Given the description of an element on the screen output the (x, y) to click on. 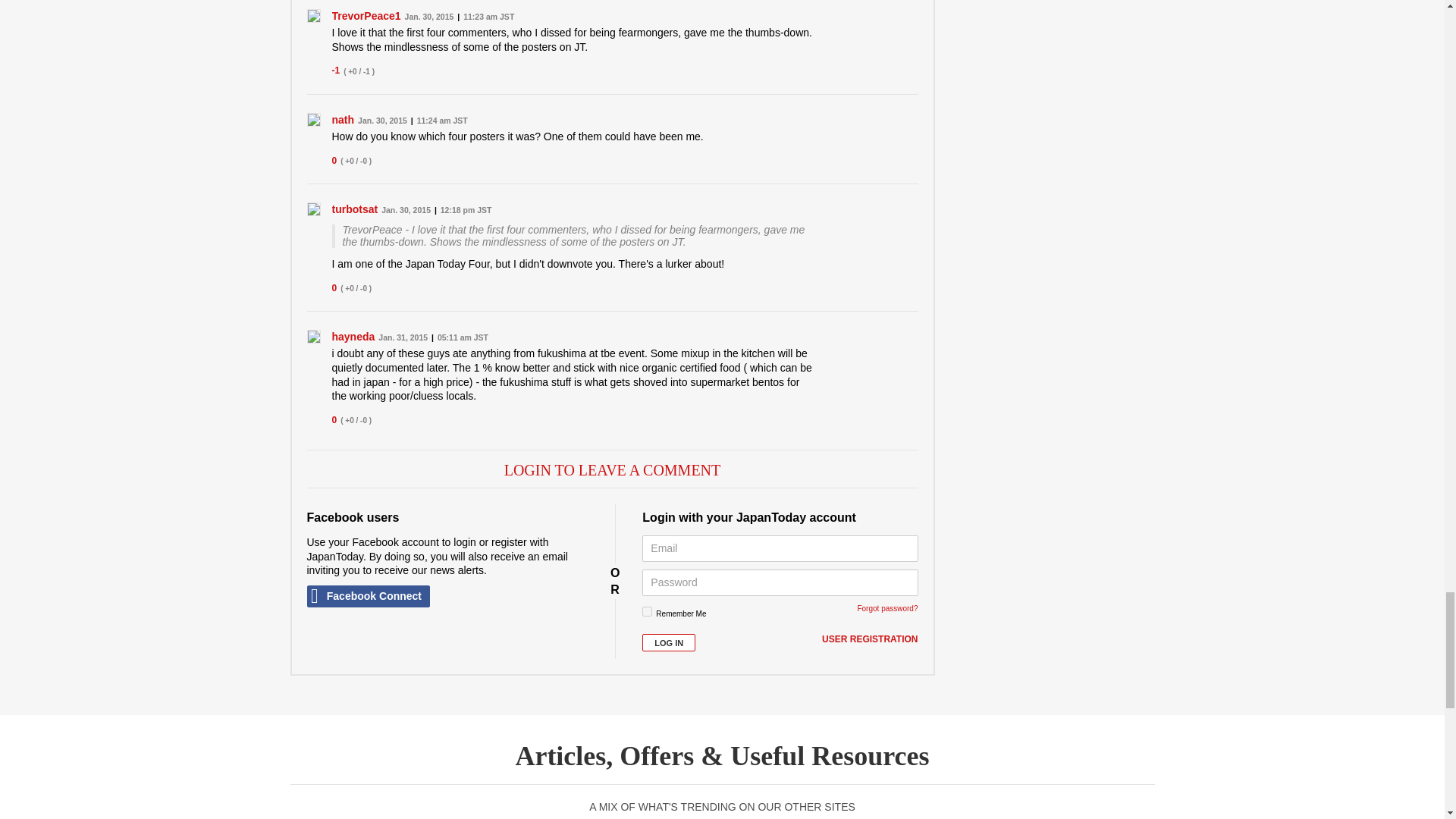
User registration (869, 639)
1 (647, 611)
Log In (668, 642)
Connect with Facebook (367, 596)
Forgot password? (887, 608)
